Given the description of an element on the screen output the (x, y) to click on. 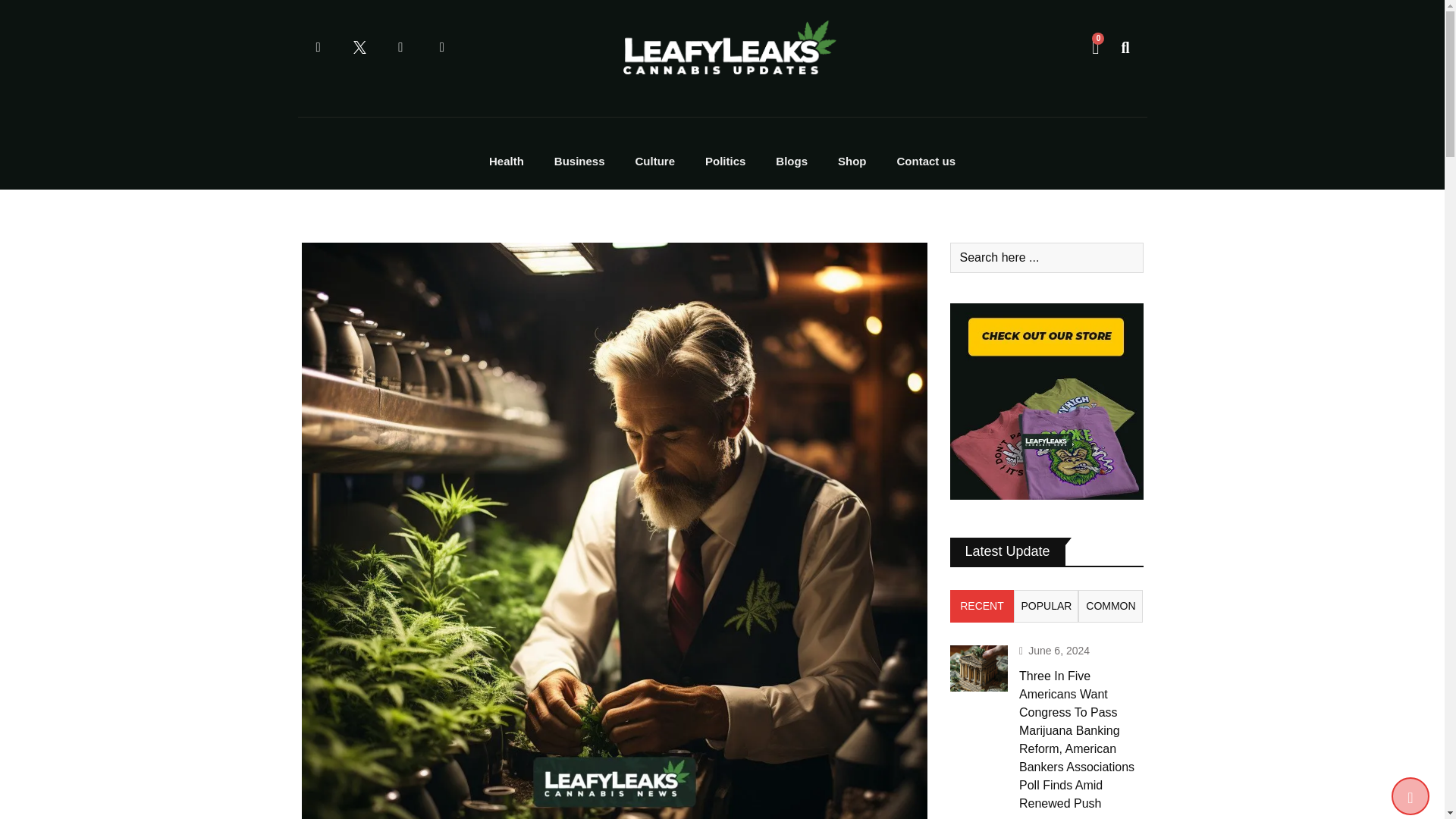
Shop (852, 161)
Business (579, 161)
Culture (655, 161)
Blogs (791, 161)
Health (506, 161)
0 (1095, 47)
Contact us (926, 161)
Politics (725, 161)
